Given the description of an element on the screen output the (x, y) to click on. 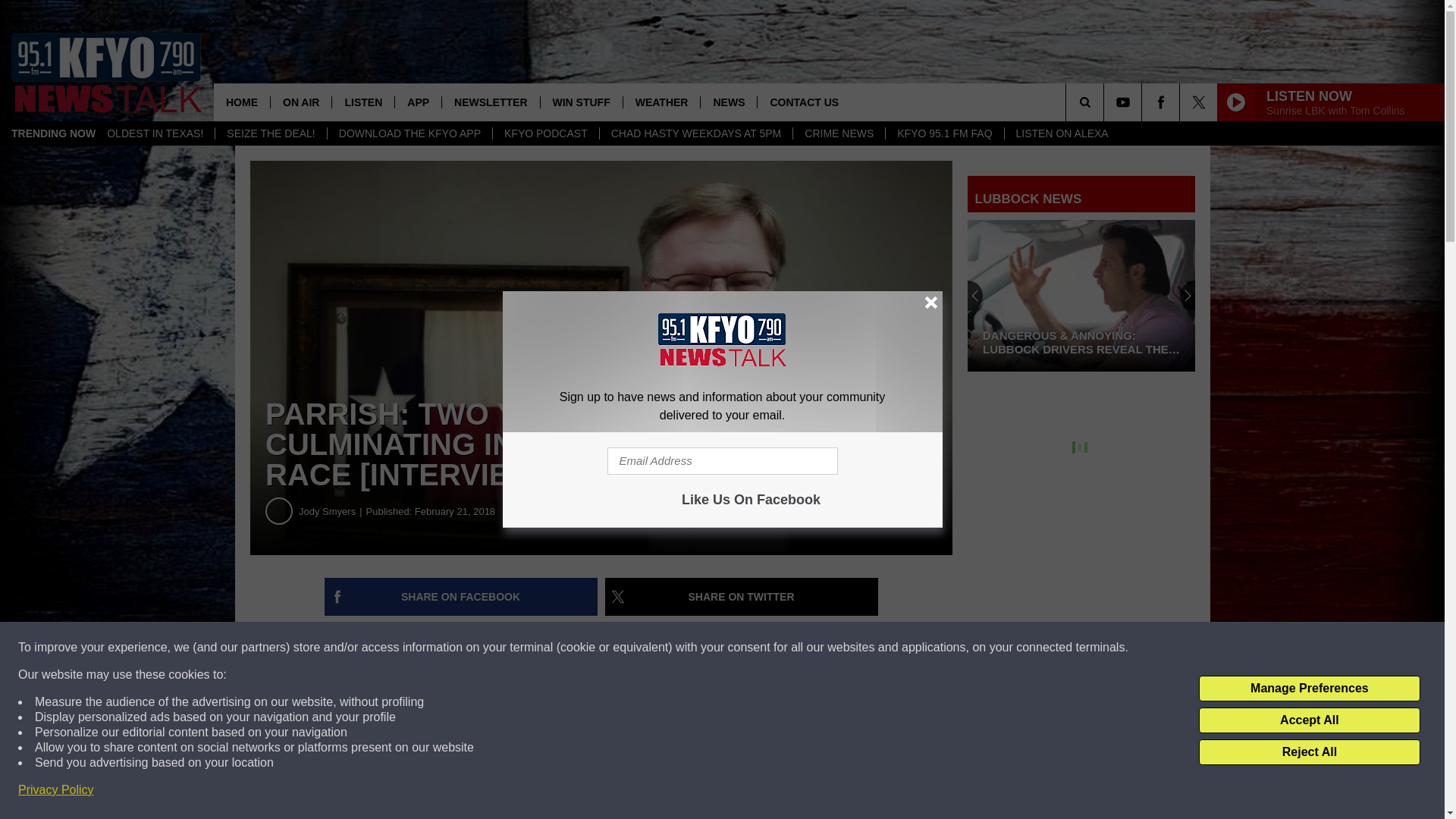
Email Address (722, 461)
Share on Facebook (460, 596)
WIN STUFF (581, 102)
CHAD HASTY WEEKDAYS AT 5PM (695, 133)
NEWSLETTER (489, 102)
SEARCH (1106, 102)
SEARCH (1106, 102)
APP (417, 102)
Privacy Policy (55, 789)
HOME (241, 102)
KFYO PODCAST (545, 133)
ON AIR (300, 102)
Share on Twitter (741, 596)
OLDEST IN TEXAS! (155, 133)
Manage Preferences (1309, 688)
